Given the description of an element on the screen output the (x, y) to click on. 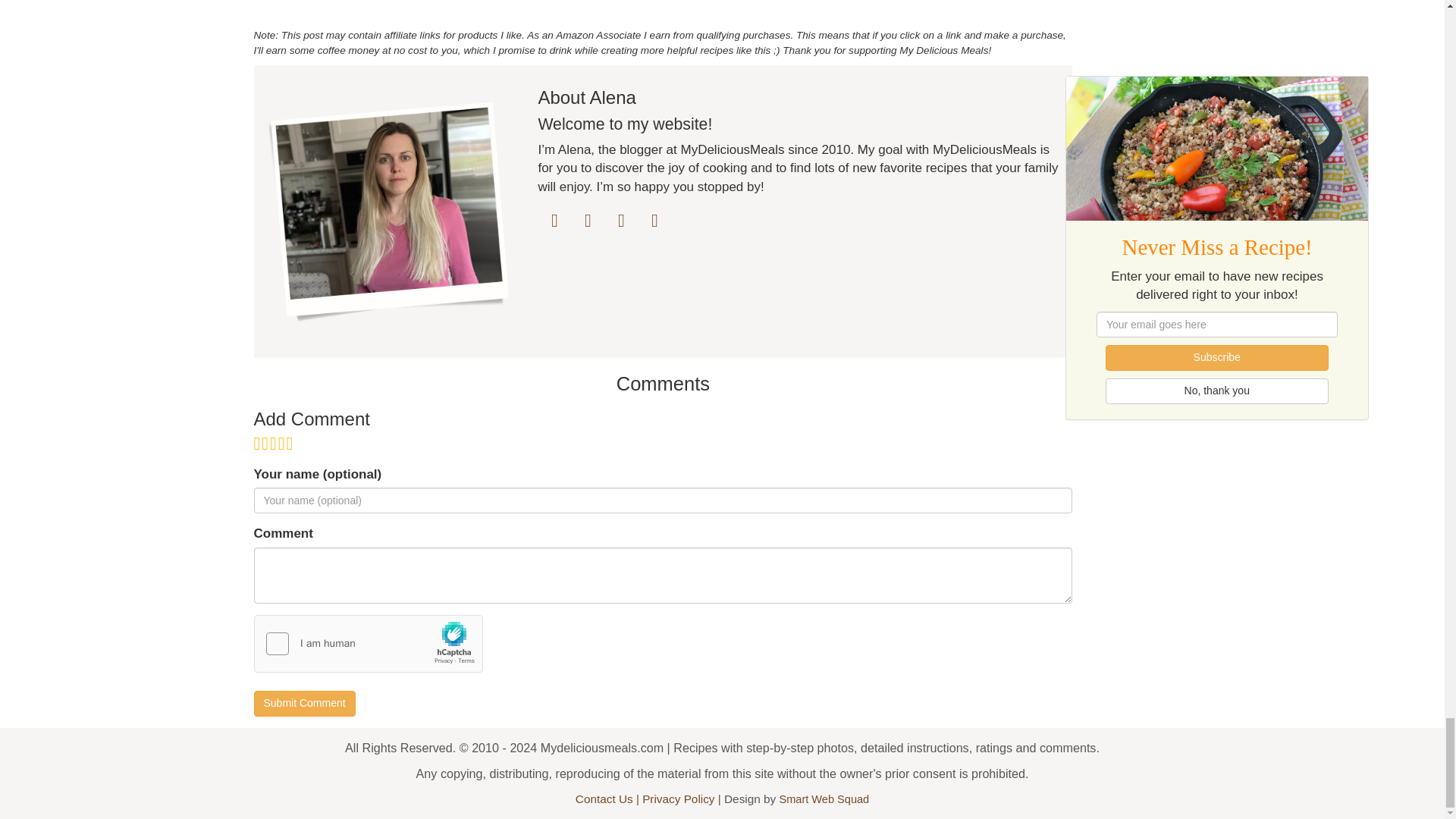
Widget containing checkbox for hCaptcha security challenge (368, 643)
